Given the description of an element on the screen output the (x, y) to click on. 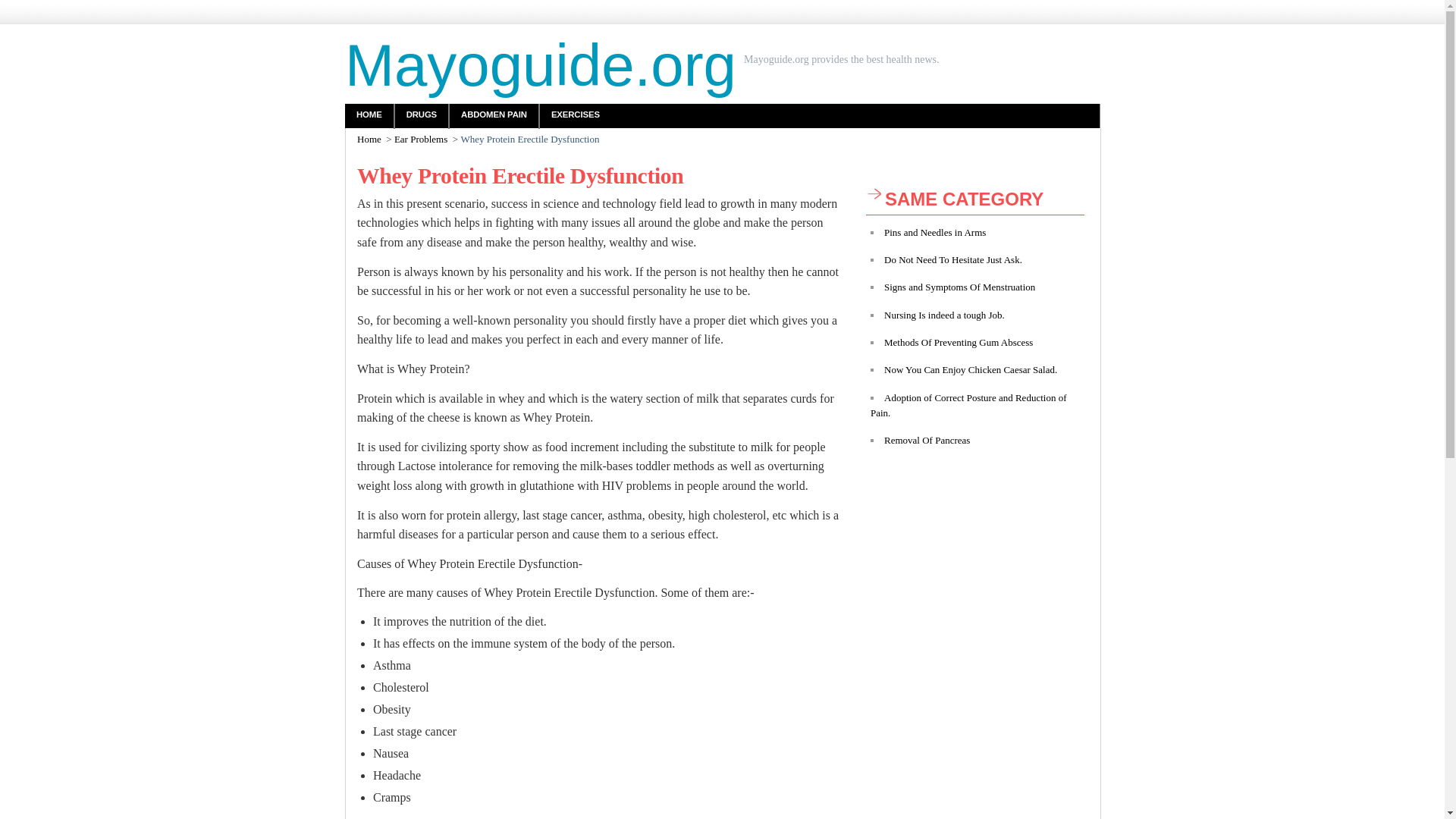
ABDOMEN PAIN (493, 115)
Now You Can Enjoy Chicken Caesar Salad. (970, 369)
Mayoguide.org (540, 65)
Ear Problems (420, 138)
Signs and Symptoms Of Menstruation (959, 286)
Removal Of Pancreas (926, 439)
Adoption of Correct Posture and Reduction of Pain. (967, 404)
DRUGS (421, 115)
Do Not Need To Hesitate Just Ask. (952, 259)
EXERCISES (575, 115)
